Given the description of an element on the screen output the (x, y) to click on. 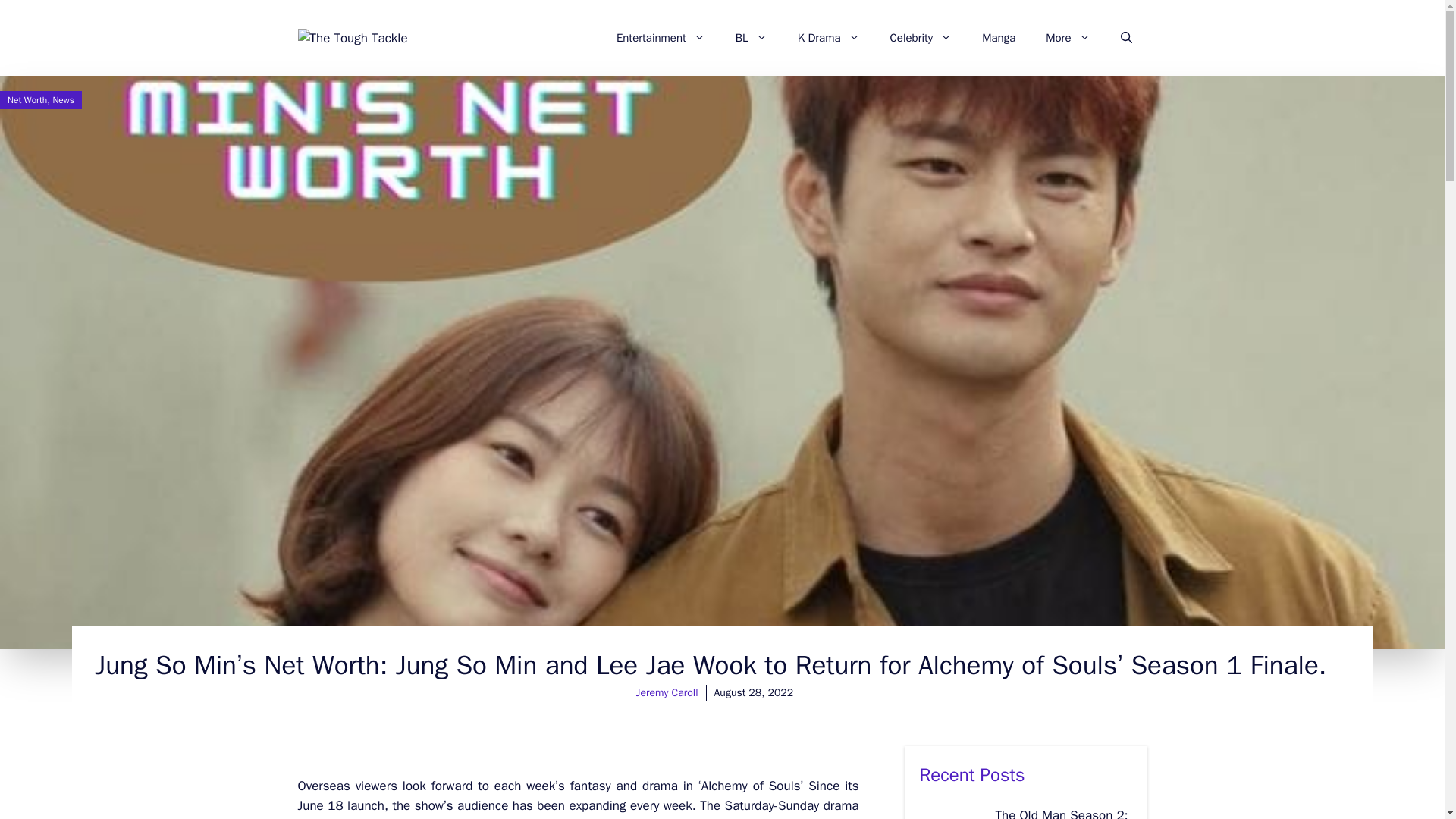
Entertainment (660, 37)
Manga (998, 37)
News (63, 100)
Celebrity (921, 37)
Net Worth (26, 100)
Jeremy Caroll (667, 692)
BL (751, 37)
More (1067, 37)
K Drama (829, 37)
